Given the description of an element on the screen output the (x, y) to click on. 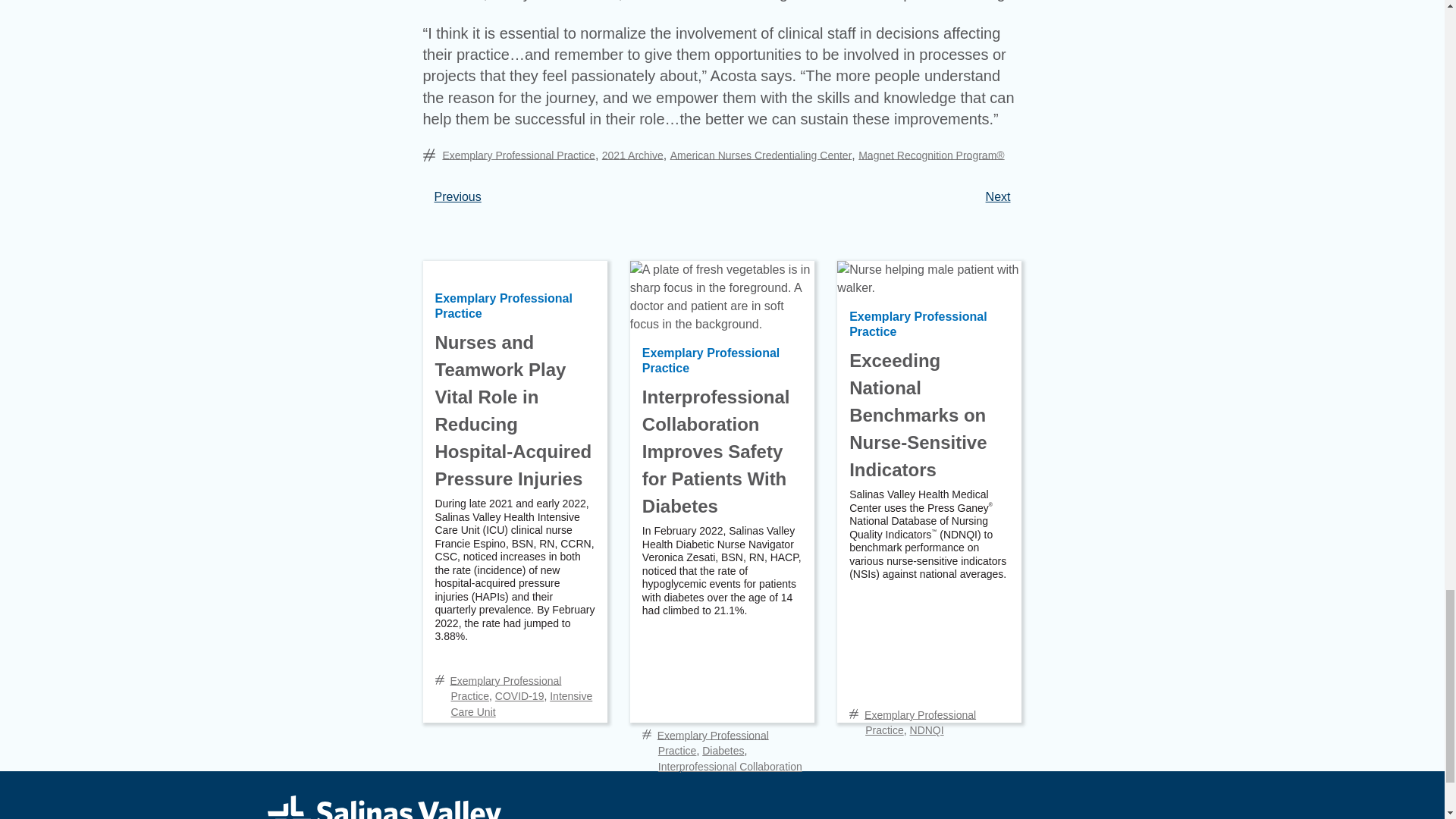
Intensive Care Unit (520, 704)
COVID-19 (519, 695)
2021 Archive (632, 154)
View all articles tagged with 2021 Archive (632, 154)
Exemplary Professional Practice (518, 154)
Next (997, 196)
Exemplary Professional Practice (503, 305)
View all articles in Exemplary Professional Practice (504, 687)
